Given the description of an element on the screen output the (x, y) to click on. 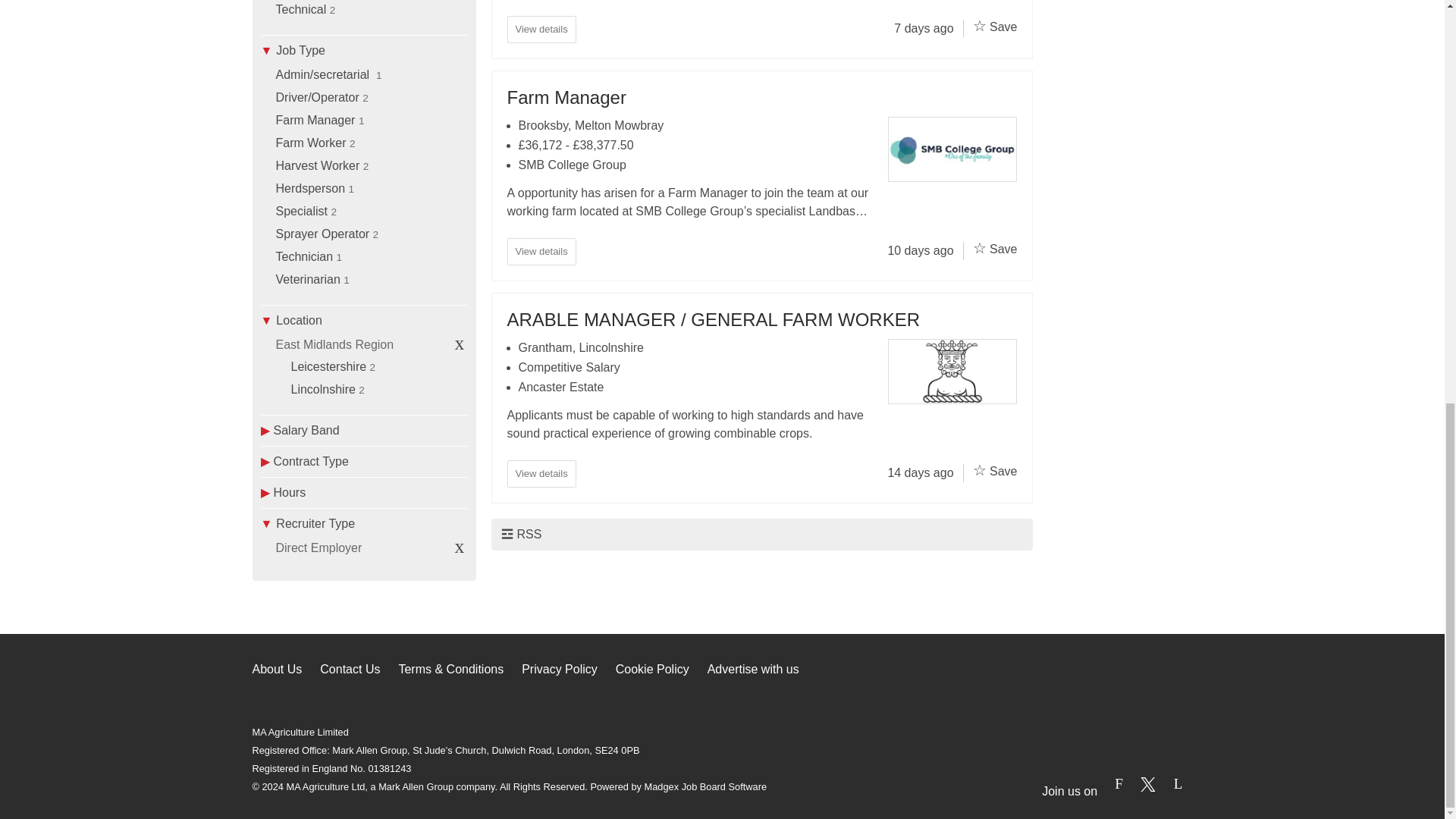
Remove selection (459, 546)
Job Type (363, 50)
Add to shortlist (979, 25)
Technical (301, 9)
Add to shortlist (979, 469)
Remove selection (459, 343)
Add to shortlist (979, 247)
